Given the description of an element on the screen output the (x, y) to click on. 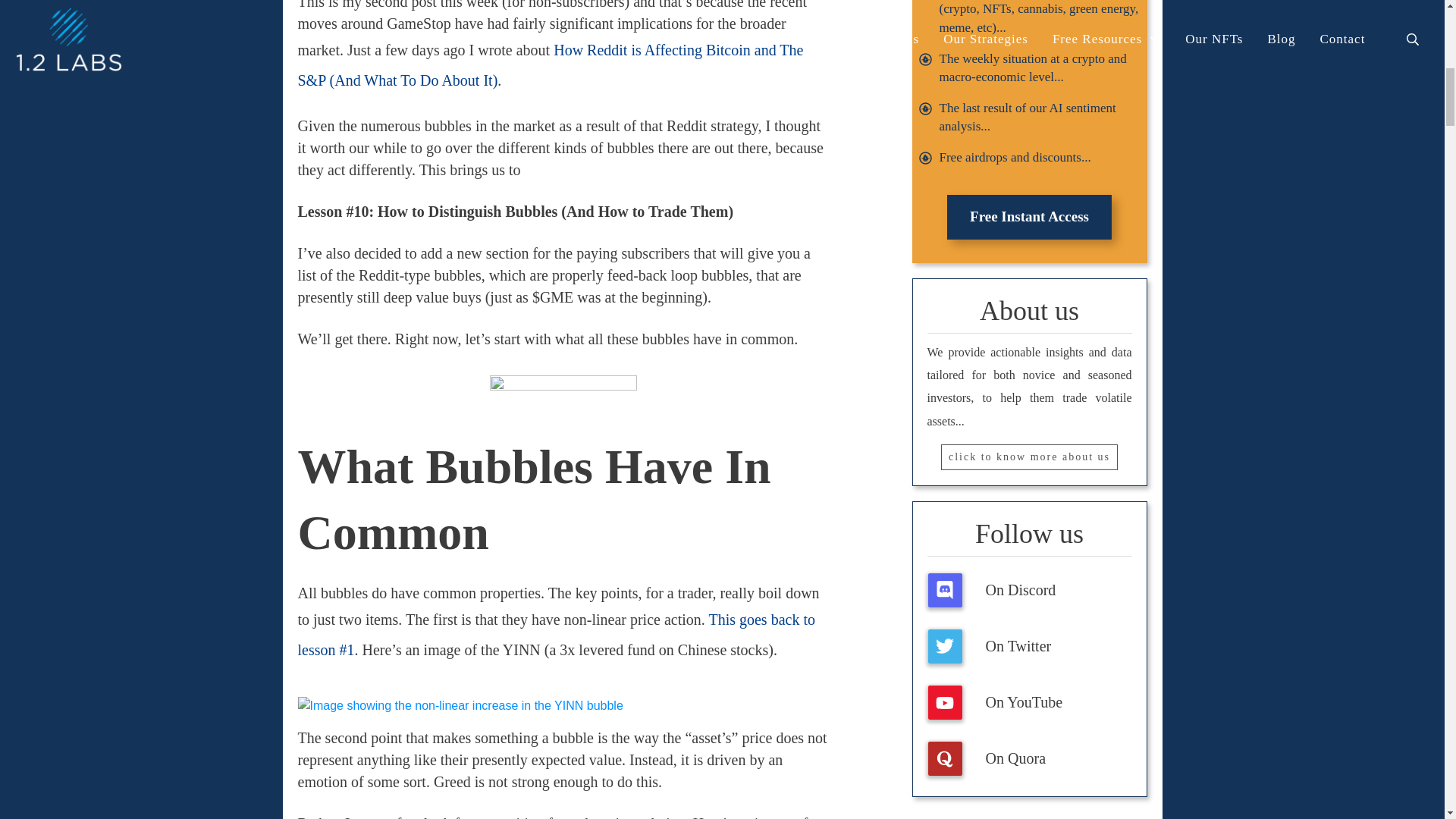
Image showing the non-linear increase in the YINN bubble (460, 705)
